Given the description of an element on the screen output the (x, y) to click on. 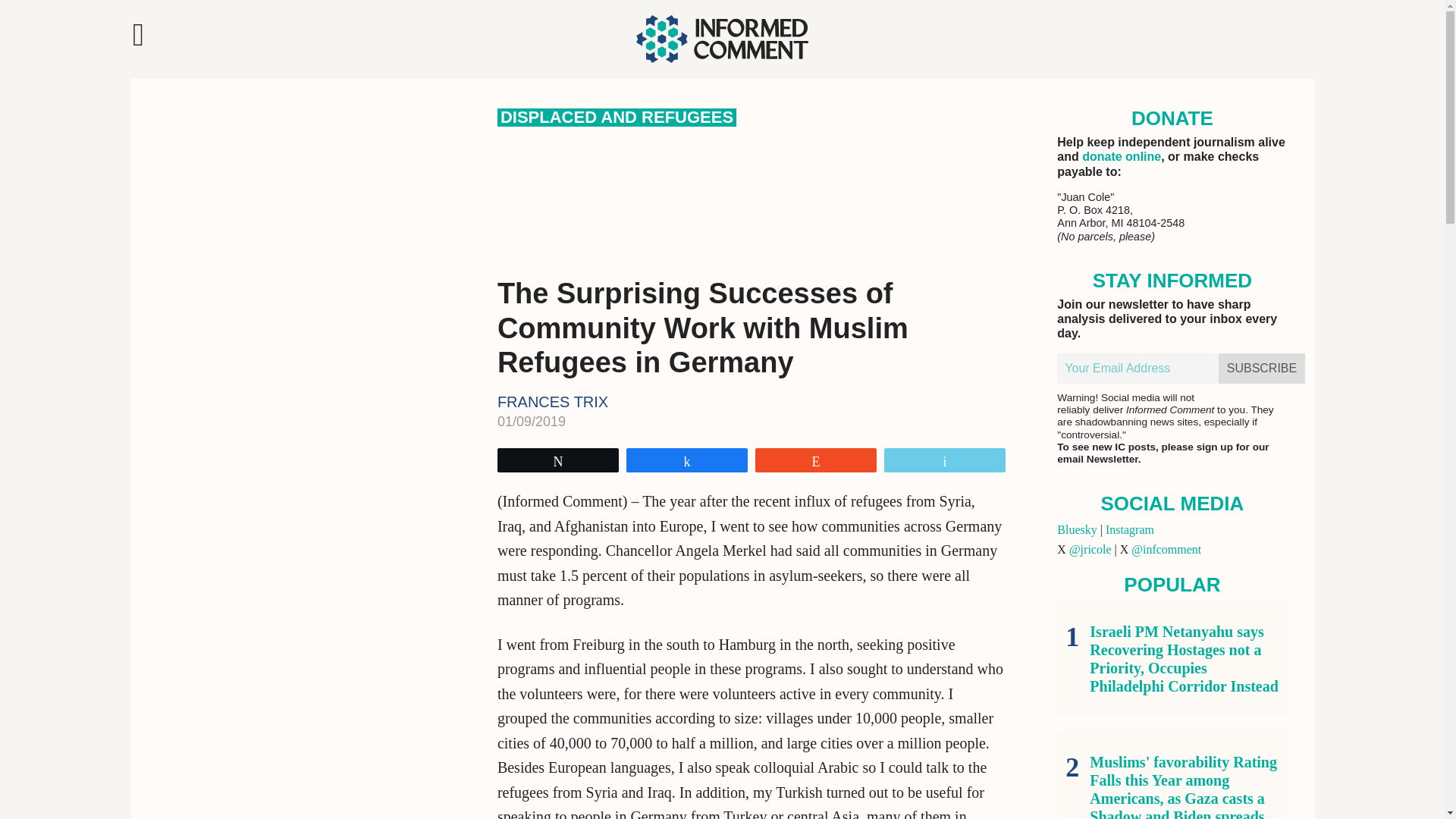
Bluesky (1076, 529)
FRANCES TRIX (552, 401)
Instagram (1129, 529)
subscribe (1262, 368)
donate online (1120, 155)
subscribe (1262, 368)
DISPLACED AND REFUGEES (616, 117)
